Given the description of an element on the screen output the (x, y) to click on. 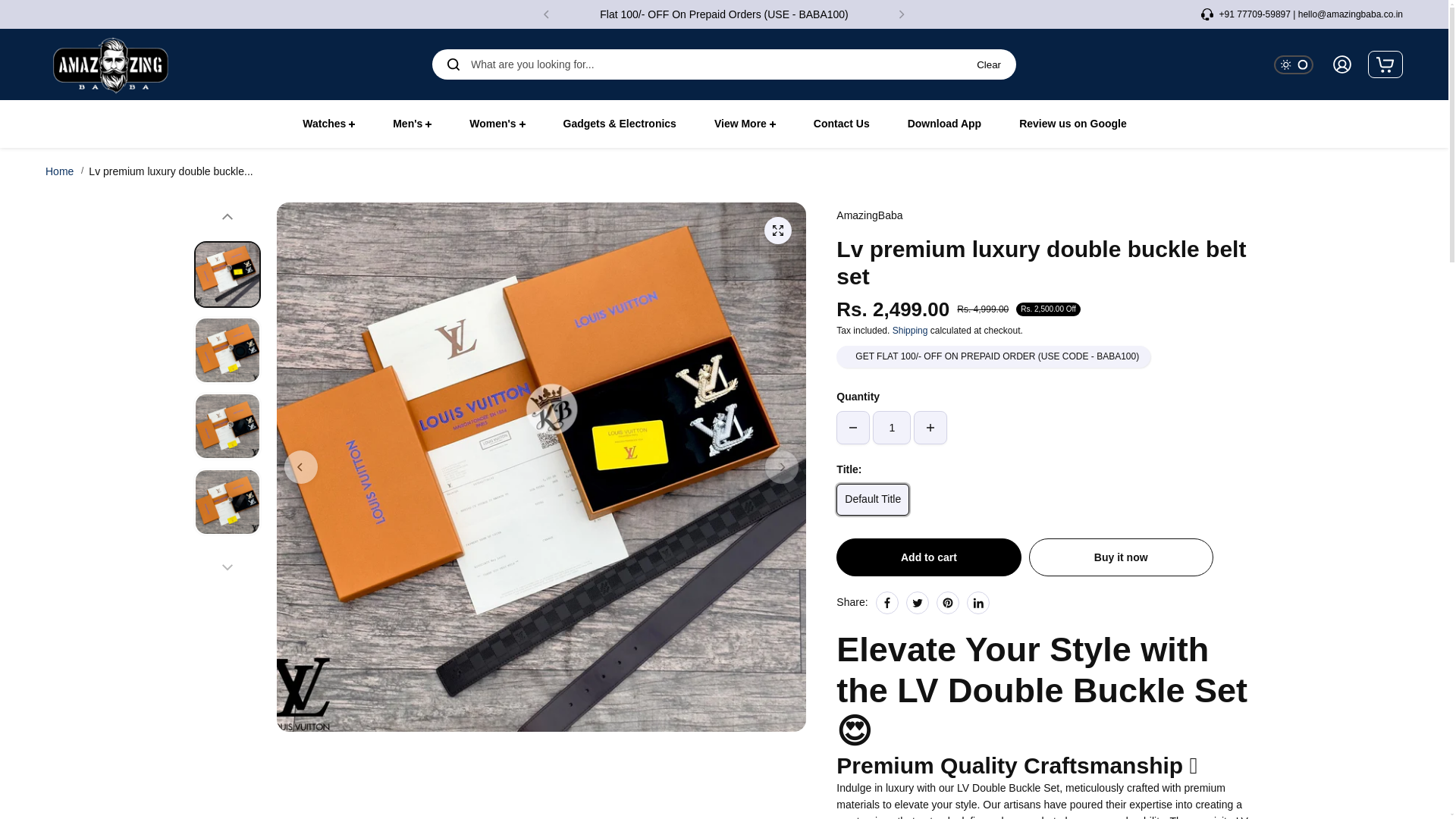
1 (891, 427)
Skip to content (48, 15)
Default Title (871, 499)
